Given the description of an element on the screen output the (x, y) to click on. 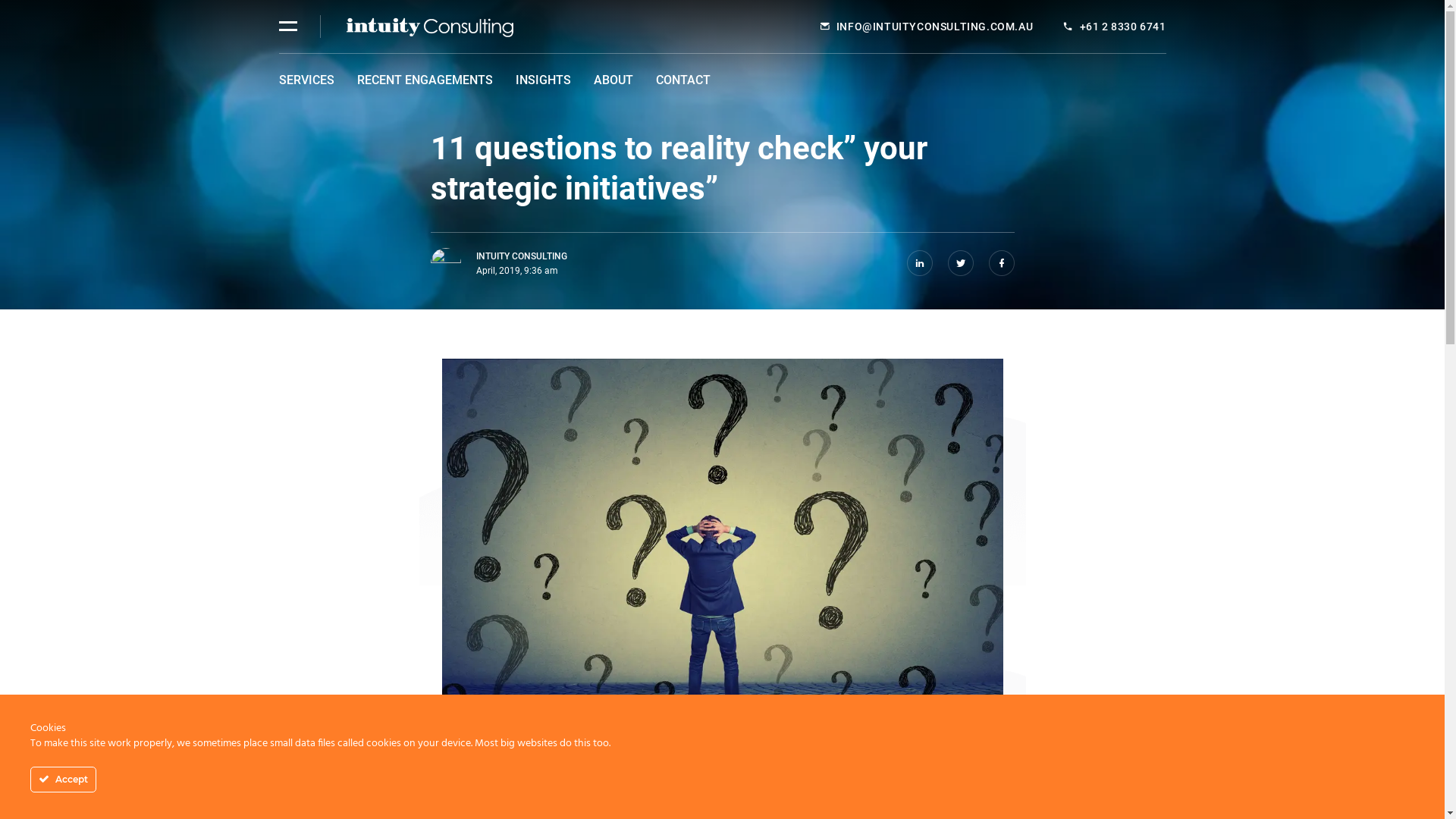
RECENT ENGAGEMENTS Element type: text (424, 79)
SERVICES Element type: text (306, 79)
+61 2 8330 6741 Element type: text (1122, 26)
INFO@INTUITYCONSULTING.COM.AU Element type: text (934, 26)
INSIGHTS Element type: text (543, 79)
CONTACT Element type: text (682, 79)
ABOUT Element type: text (612, 79)
